Given the description of an element on the screen output the (x, y) to click on. 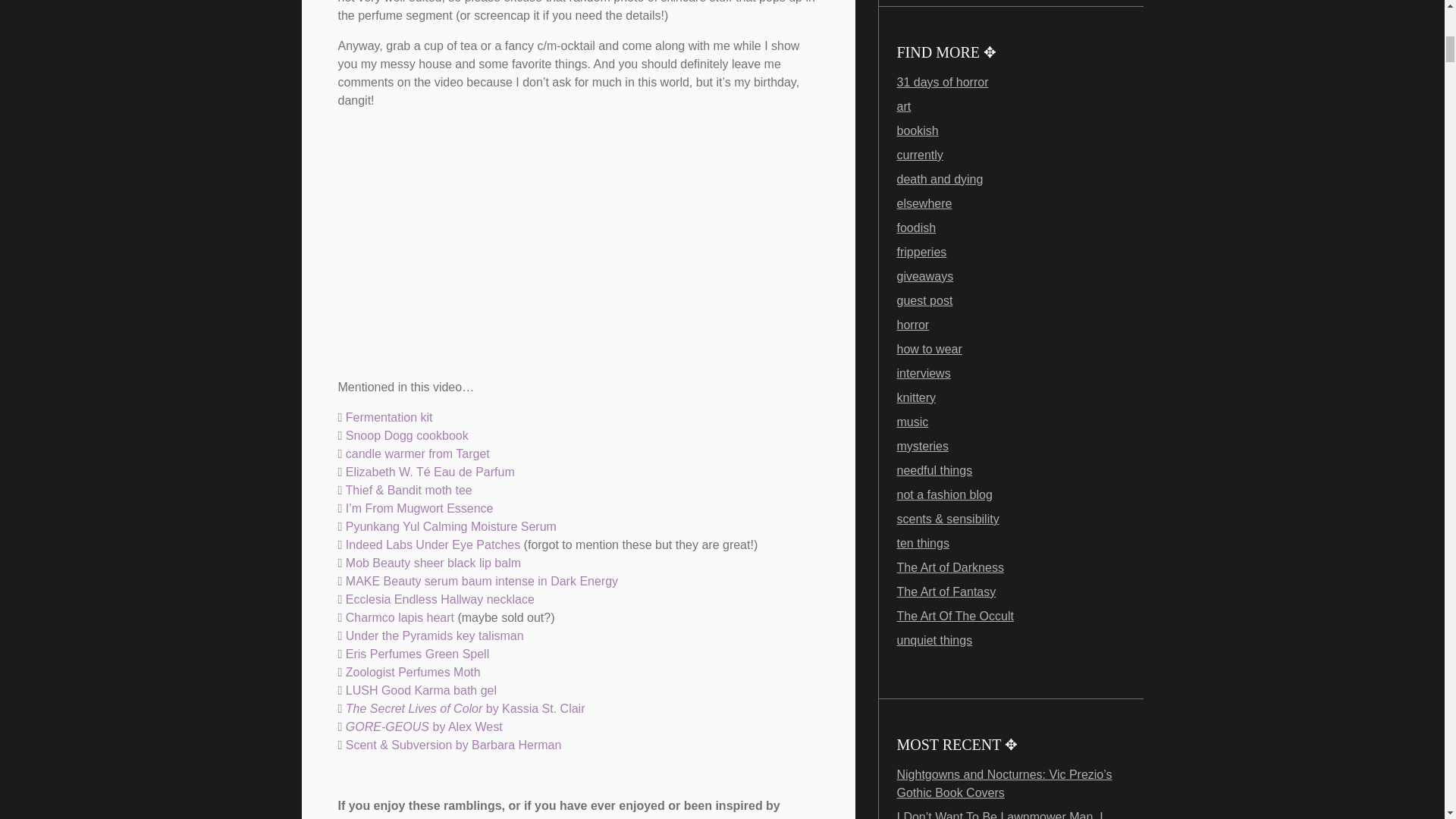
YouTube video player (549, 241)
Charmco lapis heart (400, 617)
LUSH Good Karma bath gel (421, 689)
Indeed Labs Under Eye Patches (432, 544)
GORE-GEOUS by Alex West (424, 726)
The Secret Lives of Color by Kassia St. Clair  (467, 707)
MAKE Beauty serum baum intense in Dark Energy (481, 581)
Zoologist Perfumes Moth (413, 671)
Under the Pyramids key talisman (435, 635)
Eris Perfumes Green Spell (417, 653)
Mob Beauty sheer black lip balm  (435, 562)
Pyunkang Yul Calming Moisture Serum (451, 526)
Snoop Dogg cookbook (407, 435)
candle warmer from Target (417, 453)
Ecclesia Endless Hallway necklace (440, 599)
